Given the description of an element on the screen output the (x, y) to click on. 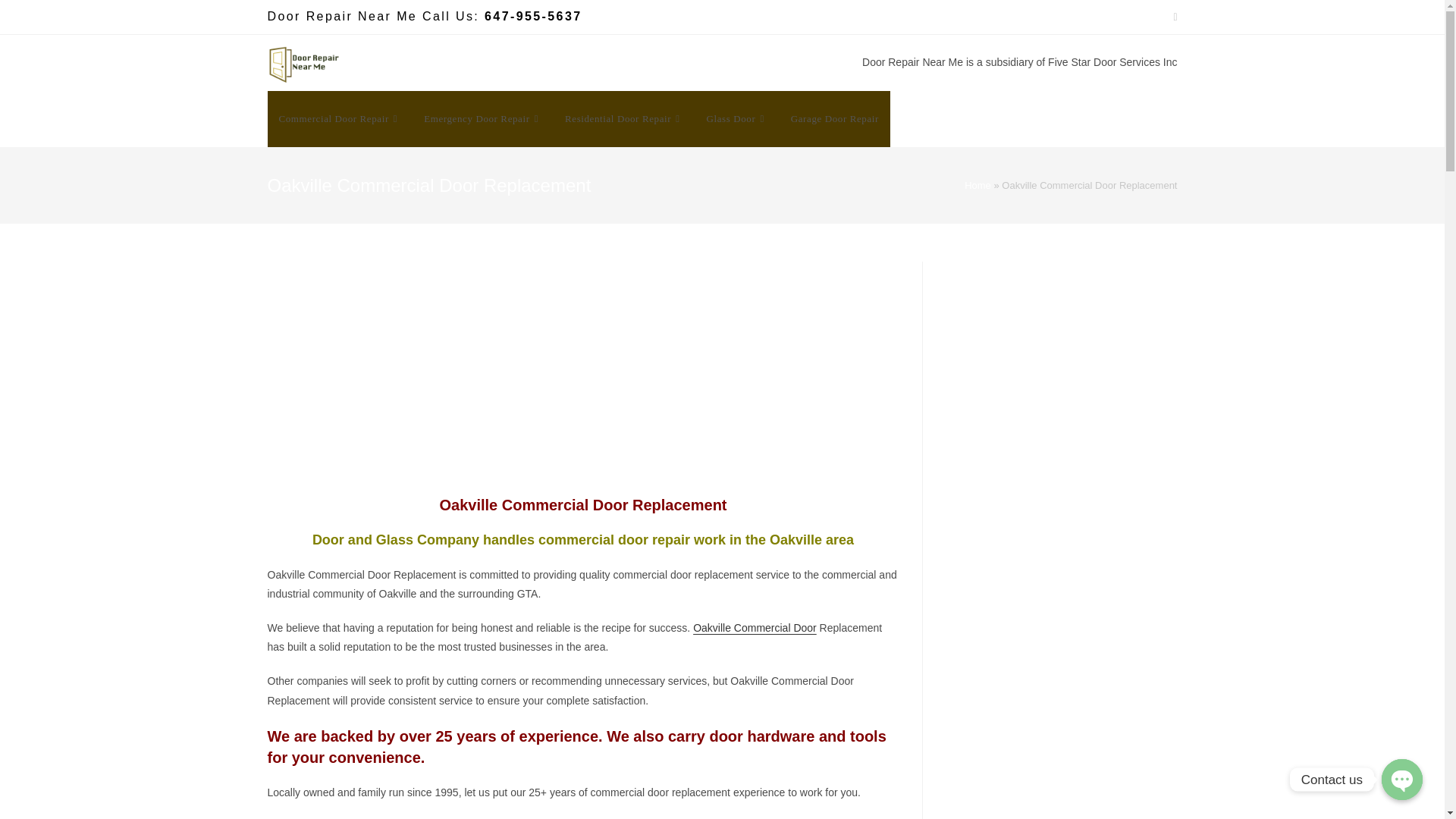
Residential Door Repair (624, 118)
Commercial Door Repair (339, 118)
647-955-5637 (532, 15)
Glass Door (736, 118)
Emergency Door Repair (482, 118)
Garage Door Repair (833, 118)
